Given the description of an element on the screen output the (x, y) to click on. 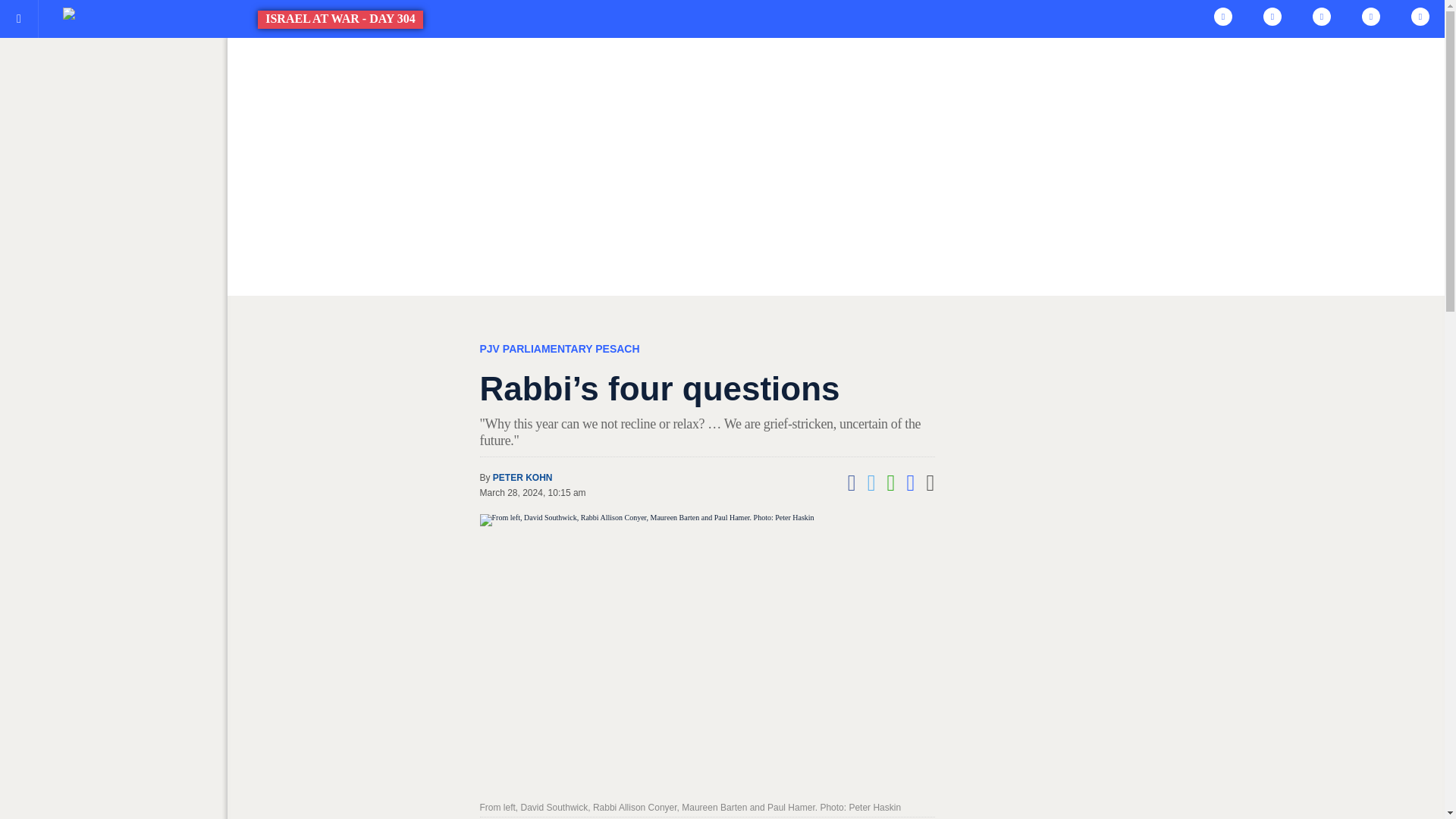
ISRAEL AT WAR - DAY 304 (175, 14)
Peter Kohn (523, 477)
